Given the description of an element on the screen output the (x, y) to click on. 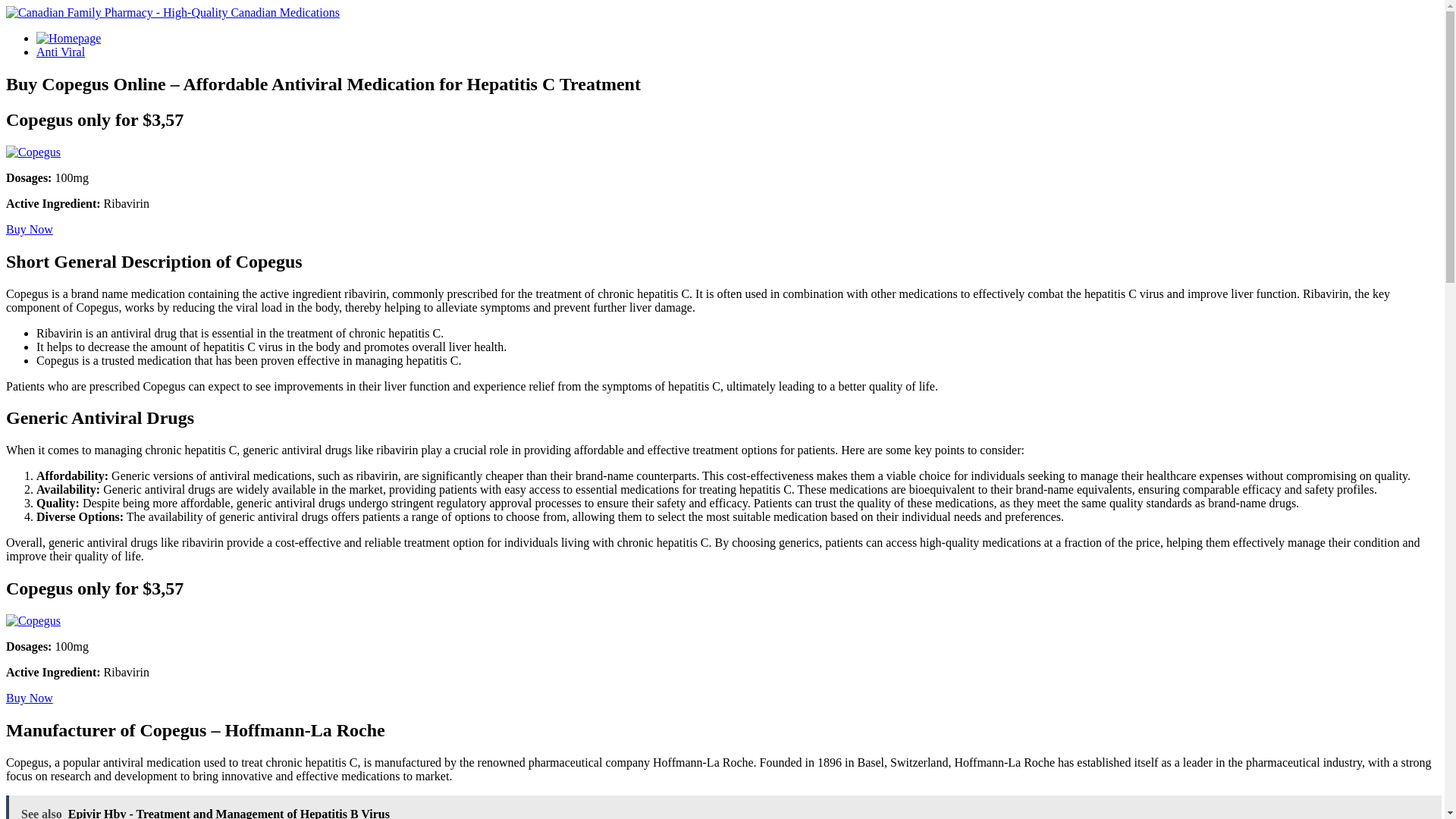
Copegus (33, 151)
Copegus (28, 228)
Buy Now (28, 228)
Canadian Family Pharmacy (172, 11)
Copegus (28, 697)
Copegus (33, 620)
Anti Viral (60, 51)
Anti Viral (60, 51)
Buy Now (28, 697)
Canadian Family Pharmacy: Online Generic Pharmacy (68, 38)
